Given the description of an element on the screen output the (x, y) to click on. 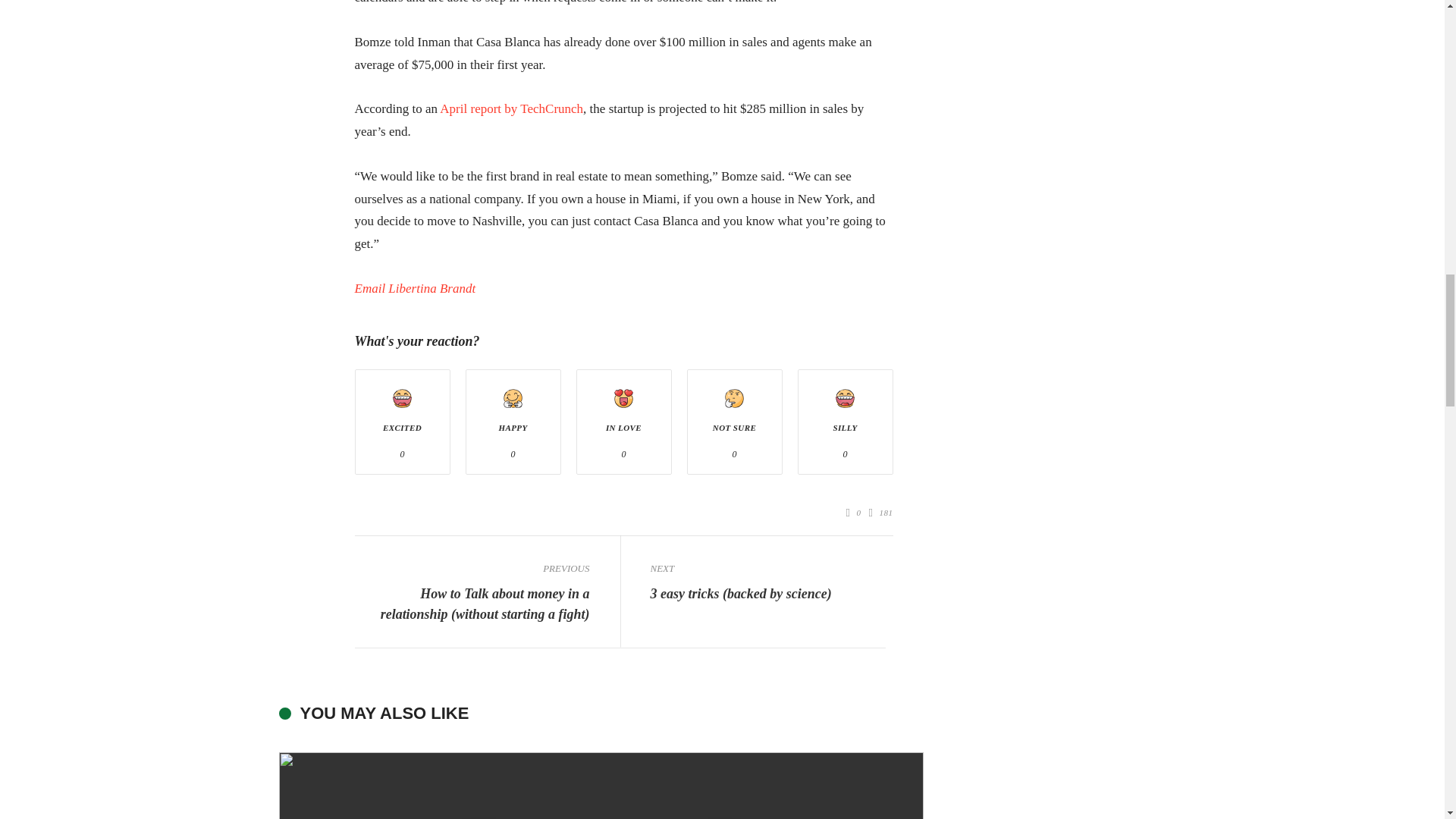
Email Libertina Brandt (415, 288)
PREVIOUS (472, 568)
NEXT (767, 568)
0 (853, 513)
April report by TechCrunch (511, 108)
181 (881, 513)
